Given the description of an element on the screen output the (x, y) to click on. 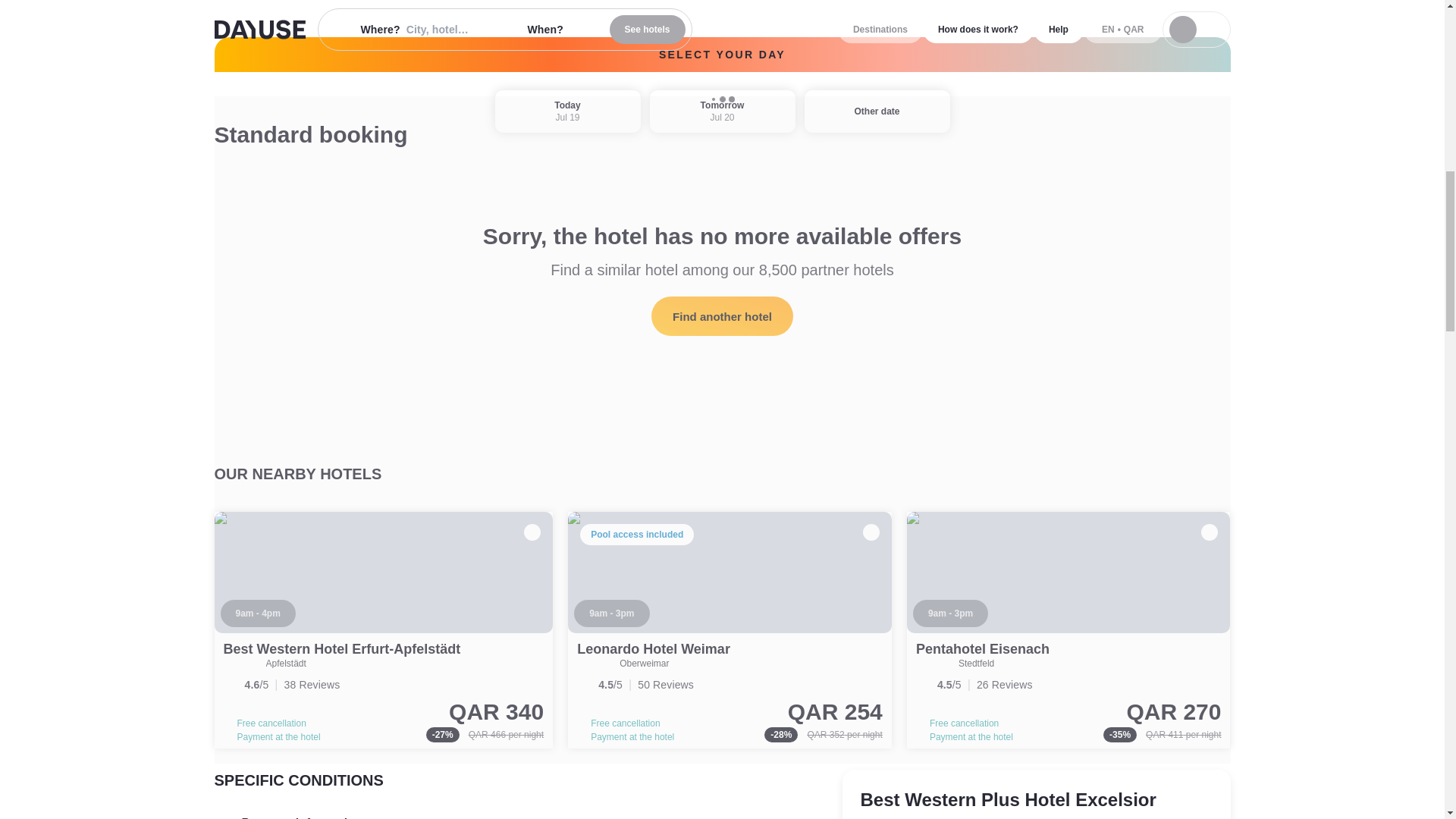
9am - 4pm (257, 613)
Pentahotel Eisenach (982, 648)
Pentahotel Eisenach (1068, 629)
Leonardo Hotel Weimar (729, 629)
Find another hotel (721, 315)
Leonardo Hotel Weimar (653, 648)
9am - 3pm (611, 613)
Leonardo Hotel Weimar (653, 648)
